Given the description of an element on the screen output the (x, y) to click on. 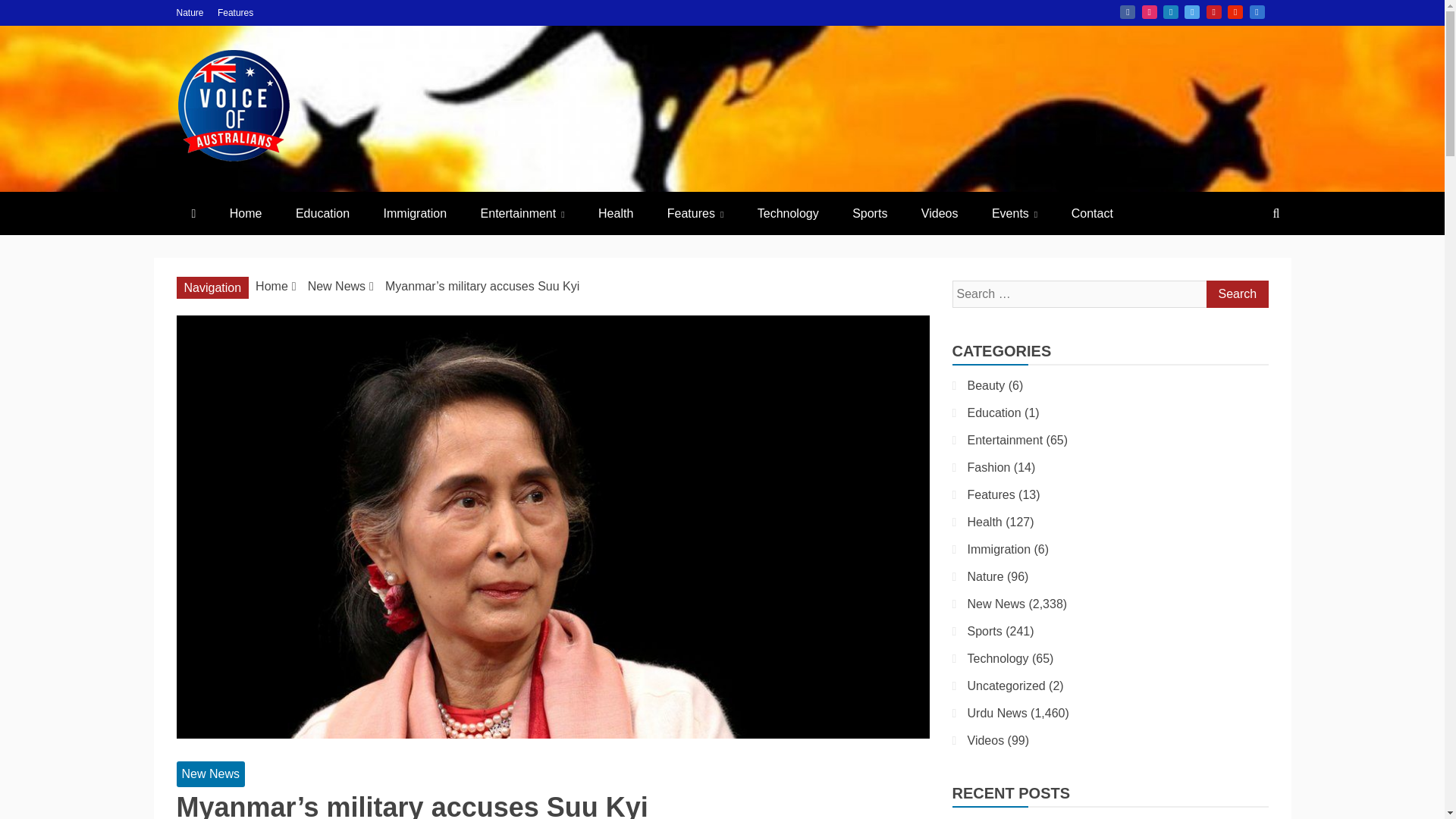
Entertainment (522, 213)
Sports (869, 213)
Vk (1257, 11)
Instagram (1149, 11)
Linkedin (1170, 11)
Nature (189, 12)
VOICE OF AUSTRALIANS (479, 197)
Facebook (1127, 11)
New News (336, 286)
Features (695, 213)
